Given the description of an element on the screen output the (x, y) to click on. 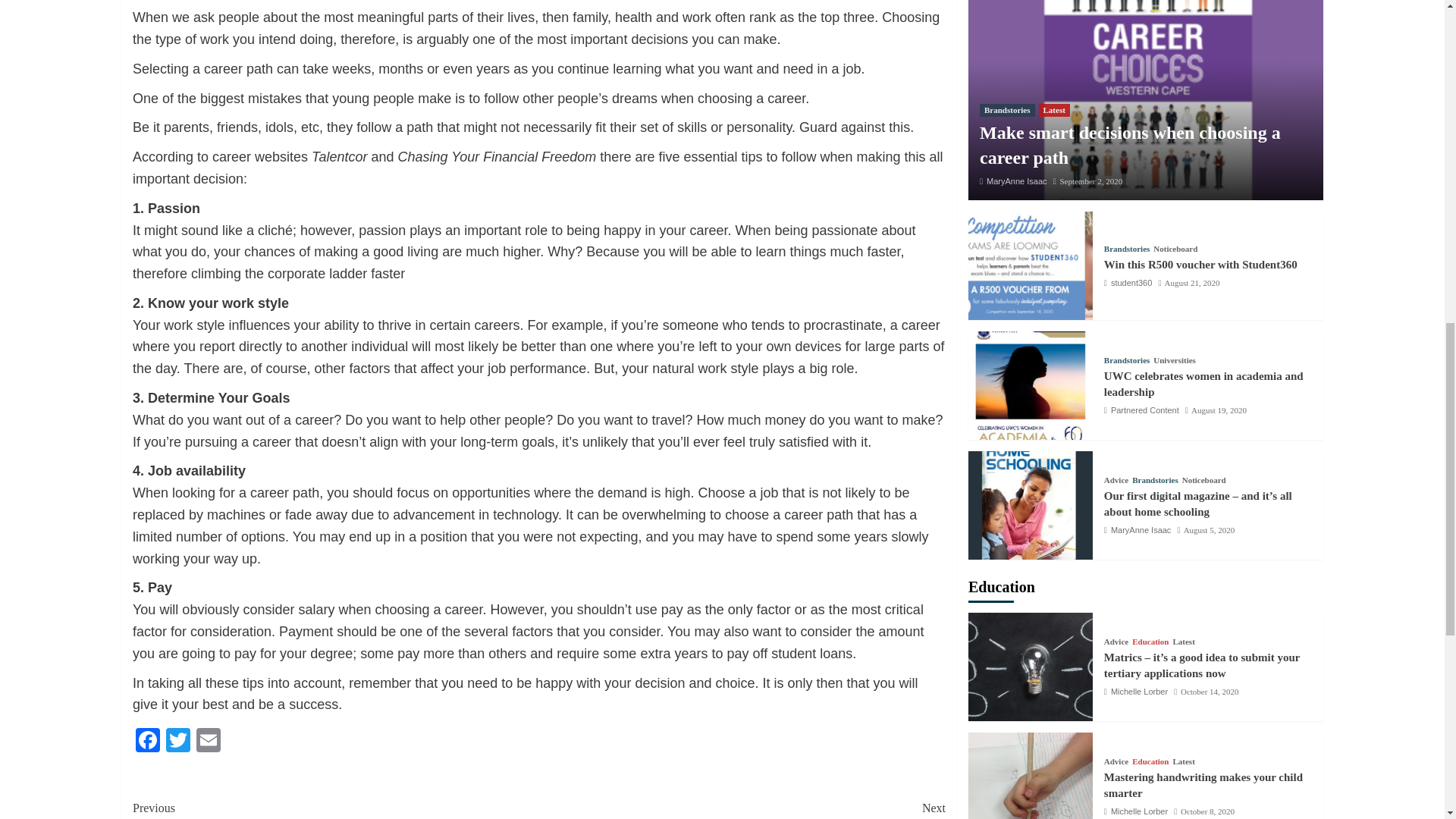
Twitter (178, 741)
Email (208, 741)
Facebook (147, 741)
Twitter (178, 741)
Email (741, 808)
Facebook (208, 741)
